Given the description of an element on the screen output the (x, y) to click on. 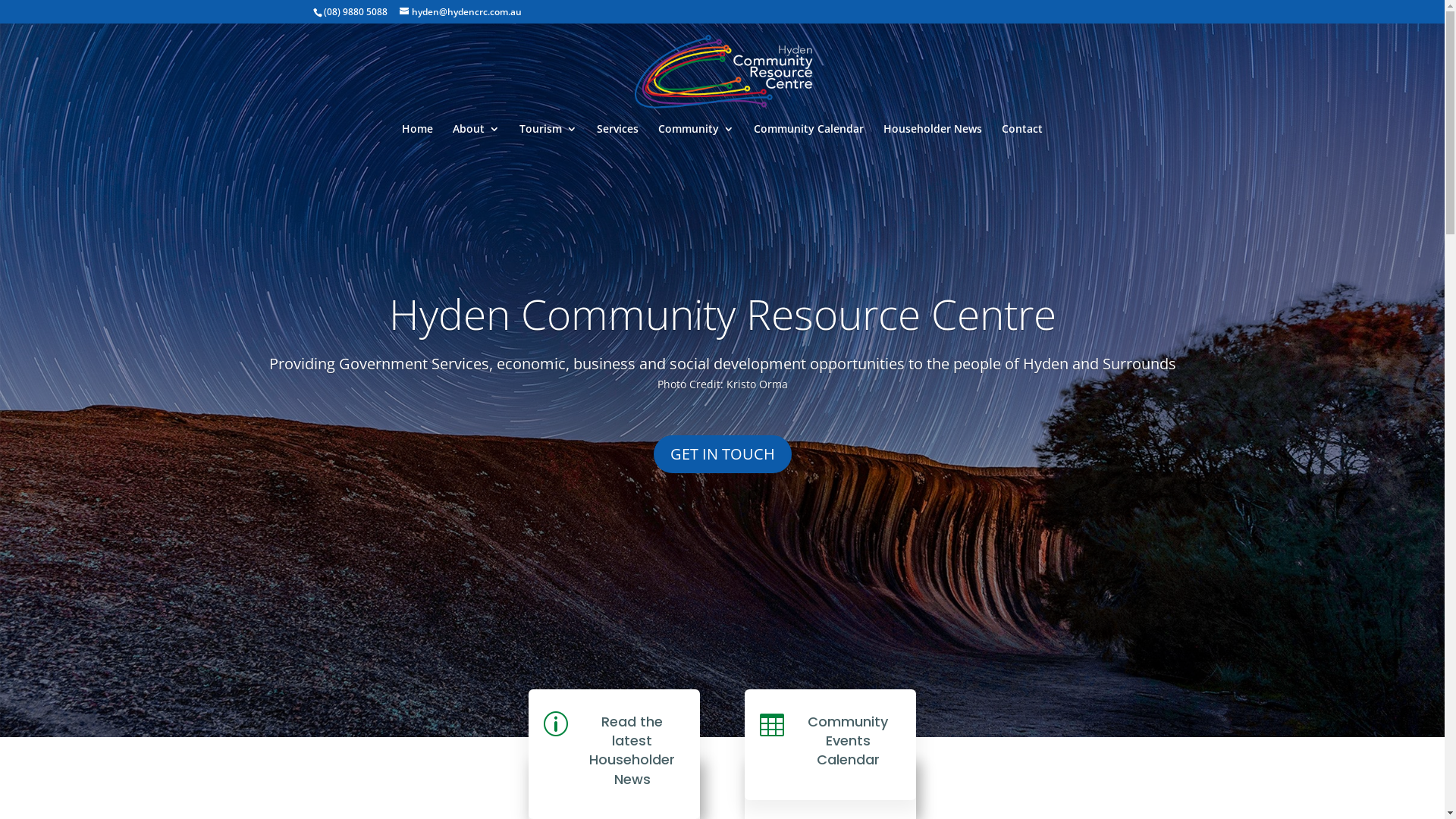
Householder News Element type: text (932, 137)
hyden@hydencrc.com.au Element type: text (459, 11)
Services Element type: text (617, 137)
Contact Element type: text (1021, 137)
Hyden Community Resource Centre Element type: text (721, 313)
Community Element type: text (696, 137)
Read the latest Householder News Element type: text (631, 750)
About Element type: text (475, 137)
p Element type: text (555, 724)
Community Events Calendar Element type: text (847, 740)
Home Element type: text (417, 137)
Tourism Element type: text (548, 137)
(08) 9880 5088 Element type: text (354, 11)
GET IN TOUCH Element type: text (722, 454)
Community Calendar Element type: text (808, 137)
